Given the description of an element on the screen output the (x, y) to click on. 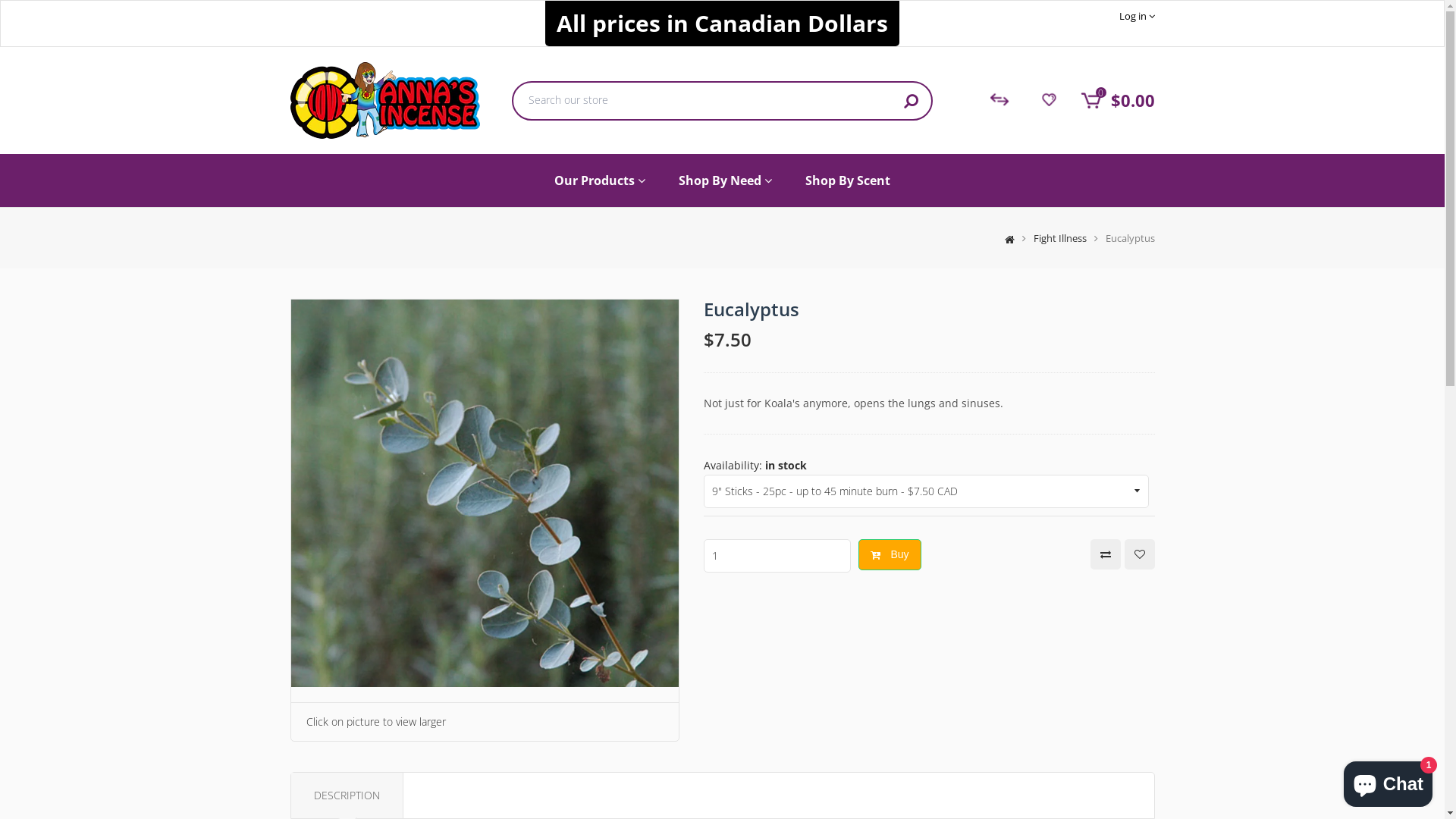
Our Products Element type: text (599, 180)
Compare Element type: hover (1000, 98)
Buy Element type: text (889, 554)
SEARCH Element type: text (911, 100)
Shopify online store chat Element type: hover (1388, 780)
Shop By Need Element type: text (725, 180)
0
$0.00 Element type: text (1113, 100)
Home Element type: text (1004, 237)
DESCRIPTION Element type: text (347, 795)
Shop By Scent Element type: text (847, 180)
Wishlist Element type: hover (1048, 98)
Add to Compare Element type: text (1105, 554)
Fight Illness Element type: text (1059, 237)
Log in Element type: text (1136, 15)
